Given the description of an element on the screen output the (x, y) to click on. 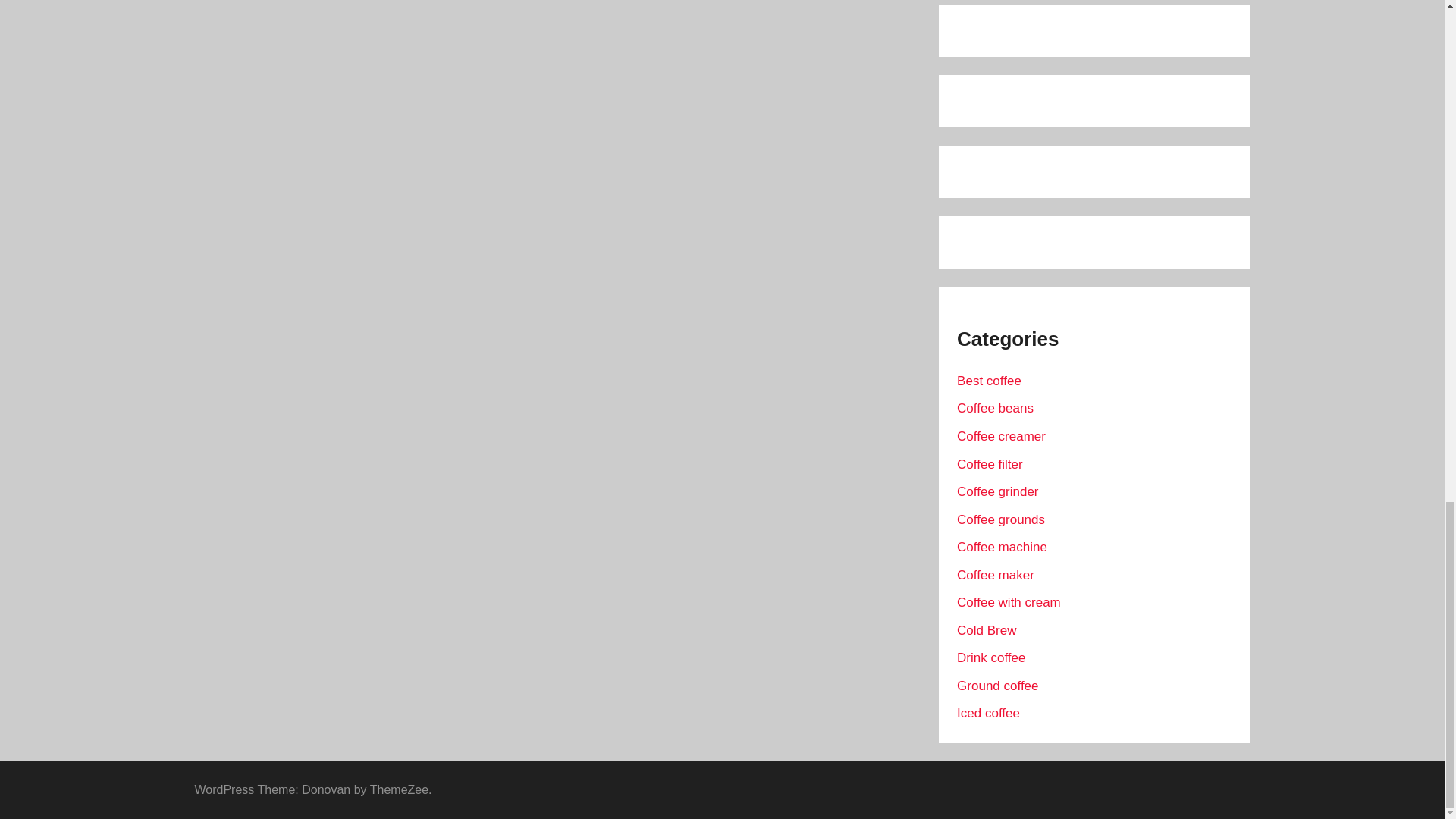
Coffee machine (1001, 546)
Ground coffee (997, 685)
Coffee maker (994, 575)
Coffee grounds (1000, 519)
Coffee grinder (997, 491)
Cold Brew (986, 630)
Best coffee (989, 380)
Coffee creamer (1000, 436)
Coffee filter (989, 464)
Coffee beans (994, 408)
Coffee with cream (1008, 602)
Drink coffee (990, 657)
